Given the description of an element on the screen output the (x, y) to click on. 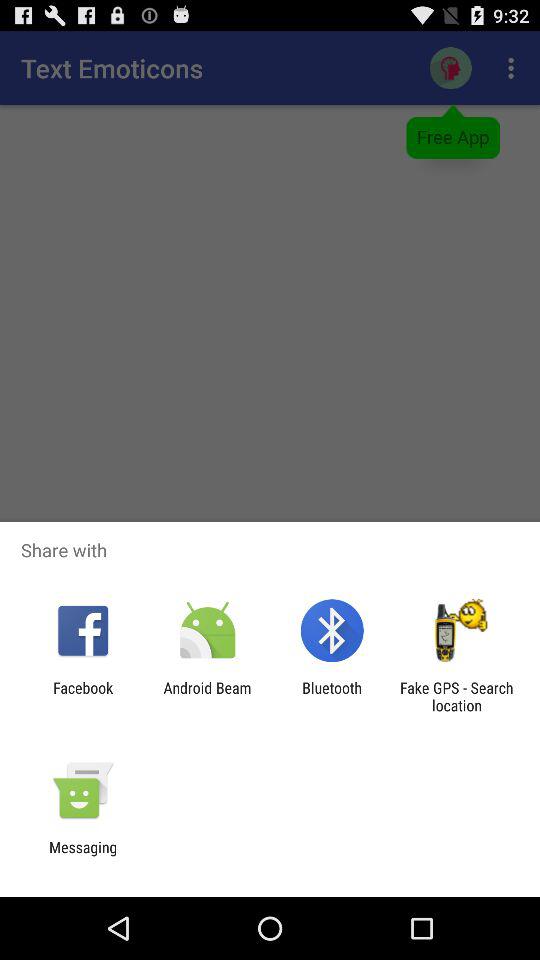
turn off the app to the right of the bluetooth item (456, 696)
